Given the description of an element on the screen output the (x, y) to click on. 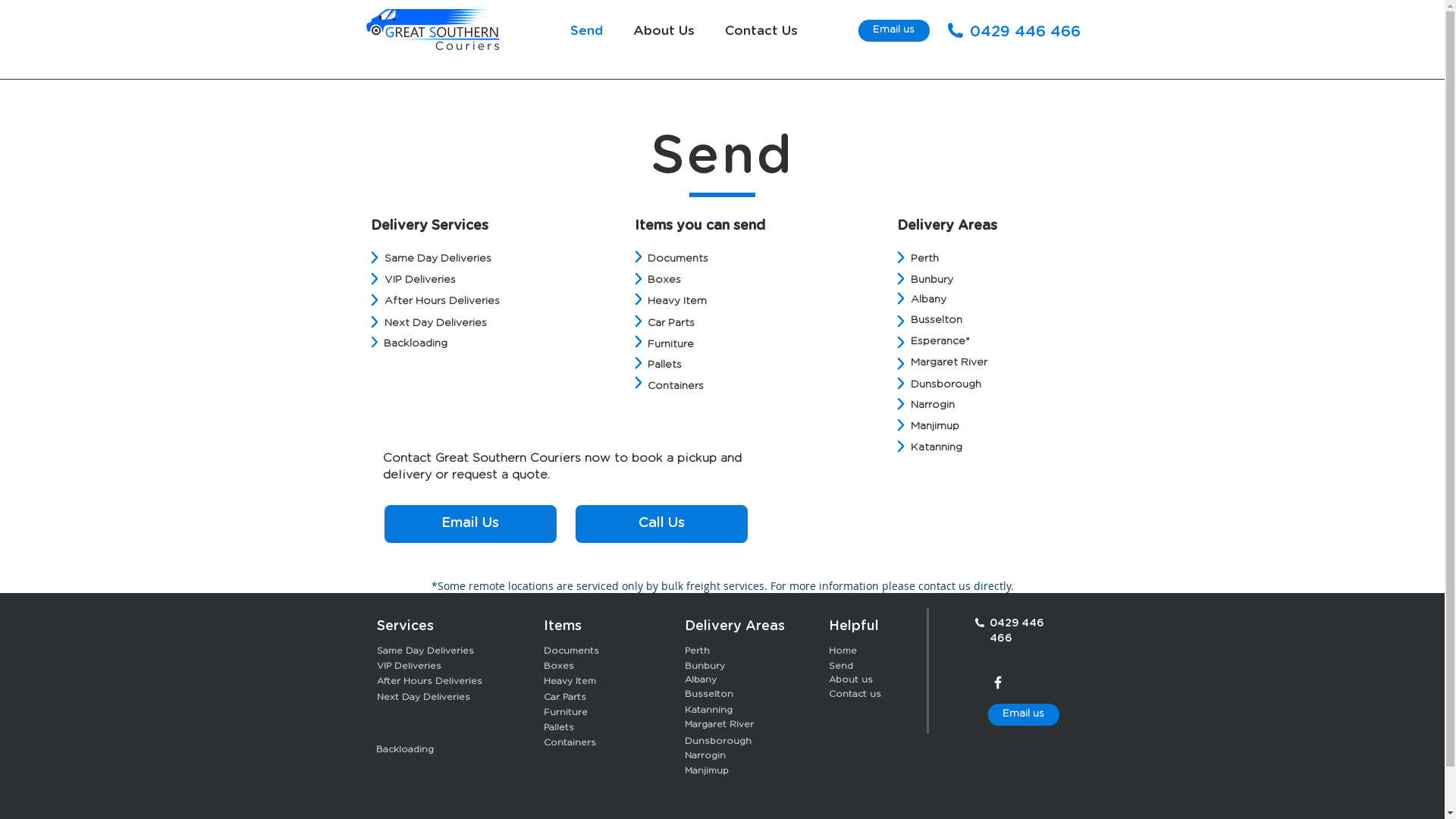
About Us Element type: text (663, 30)
Email Us Element type: text (469, 523)
Send Element type: text (840, 664)
Call Us Element type: text (660, 523)
Home Element type: text (842, 649)
Contact Us Element type: text (760, 30)
About us Element type: text (850, 678)
Email us Element type: text (893, 30)
Send Element type: text (586, 30)
Email us Element type: text (1022, 714)
0429 446 466 Element type: text (1015, 629)
0429 446 466 Element type: text (1024, 30)
Contact us Element type: text (854, 693)
